Given the description of an element on the screen output the (x, y) to click on. 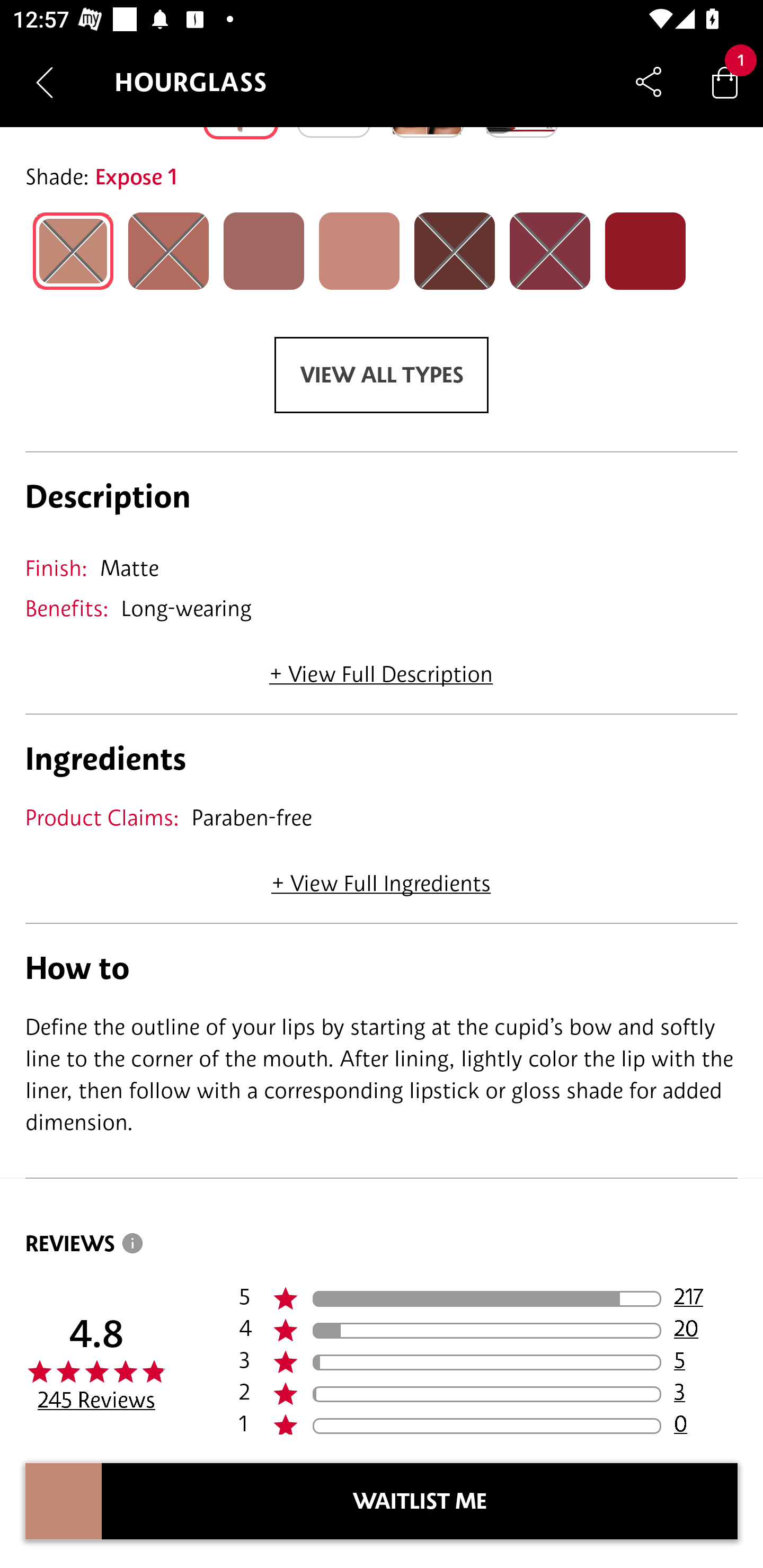
Navigate up (44, 82)
Share (648, 81)
Bag (724, 81)
VIEW ALL TYPES (381, 375)
+ View Full Description (380, 667)
+ View Full Ingredients (380, 876)
5 88.0 217 (487, 1298)
4 8.0 20 (487, 1330)
3 2.0 5 (487, 1362)
2 1.0 3 (487, 1393)
245 Reviews (96, 1400)
1 0.0 0 (487, 1421)
WAITLIST ME (419, 1500)
